Given the description of an element on the screen output the (x, y) to click on. 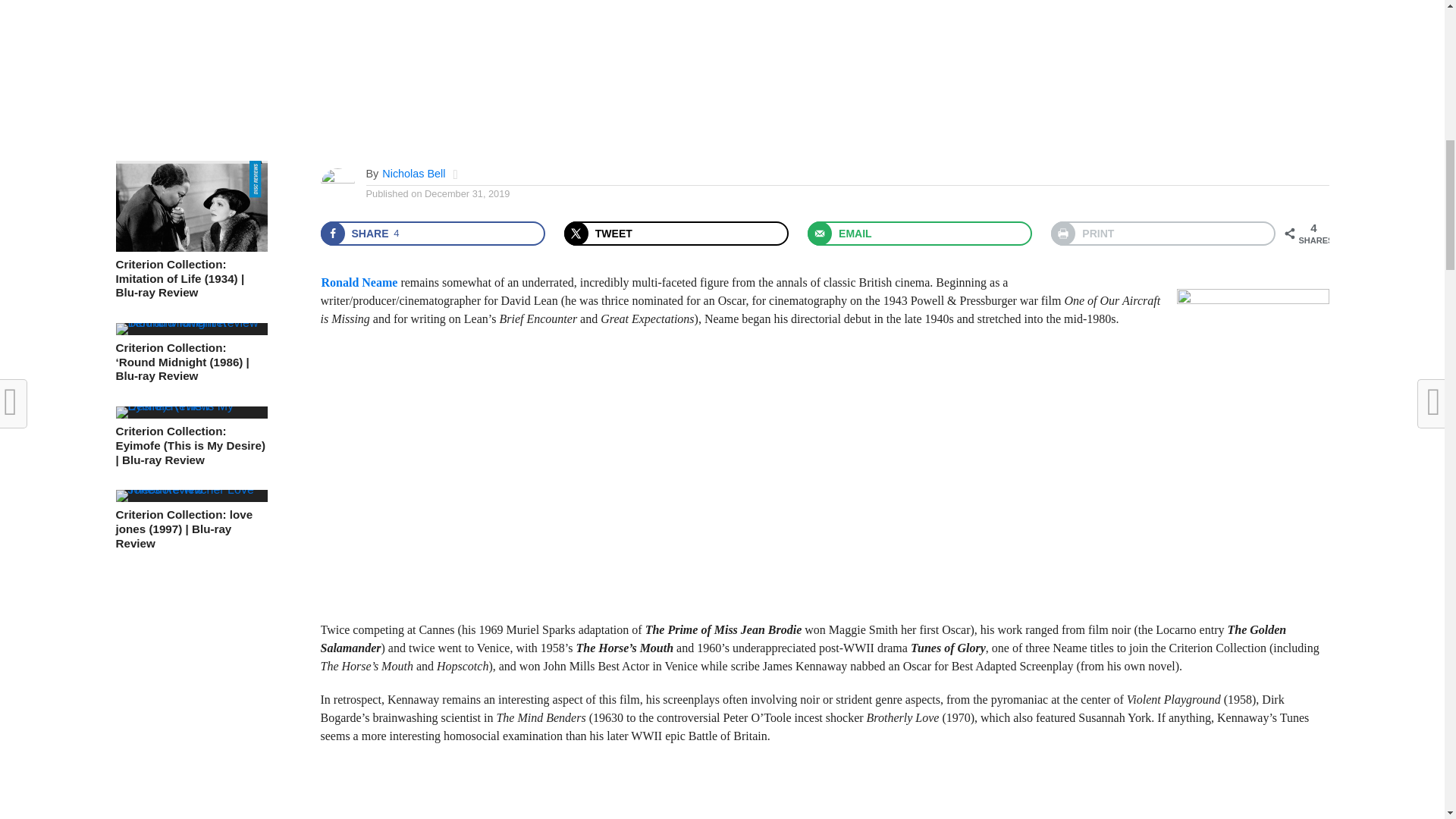
Nicholas Bell (413, 173)
Send over email (920, 233)
TWEET (676, 233)
Share on X (676, 233)
Share on Facebook (432, 233)
Posts by Nicholas Bell (413, 173)
Print this webpage (432, 233)
